Given the description of an element on the screen output the (x, y) to click on. 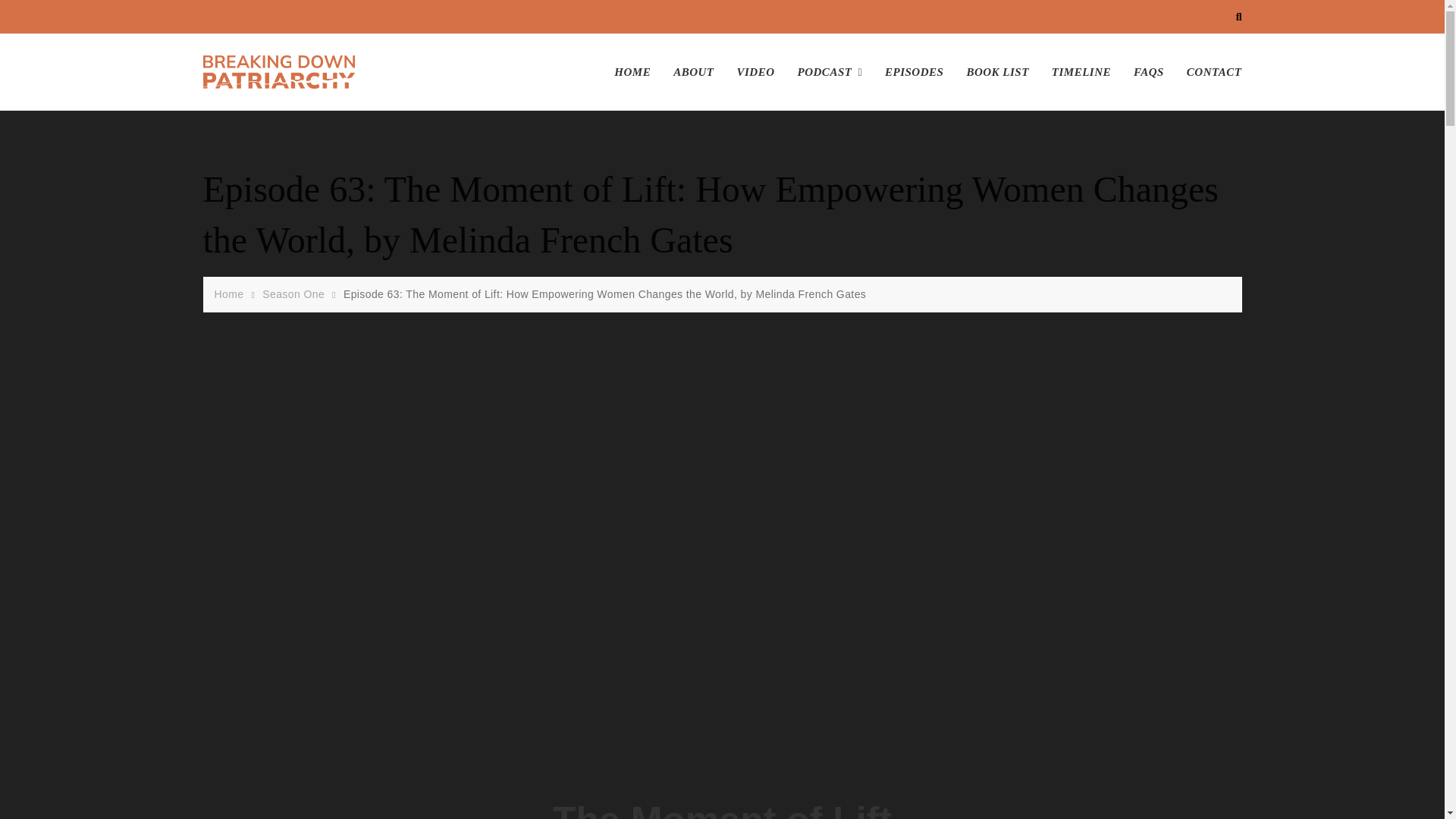
ABOUT (693, 72)
EPISODES (914, 72)
TIMELINE (1081, 72)
HOME (638, 72)
VIDEO (755, 72)
PODCAST (829, 72)
FAQS (1148, 72)
Home (230, 294)
Season One (295, 294)
CONTACT (1207, 72)
BOOK LIST (997, 72)
